Given the description of an element on the screen output the (x, y) to click on. 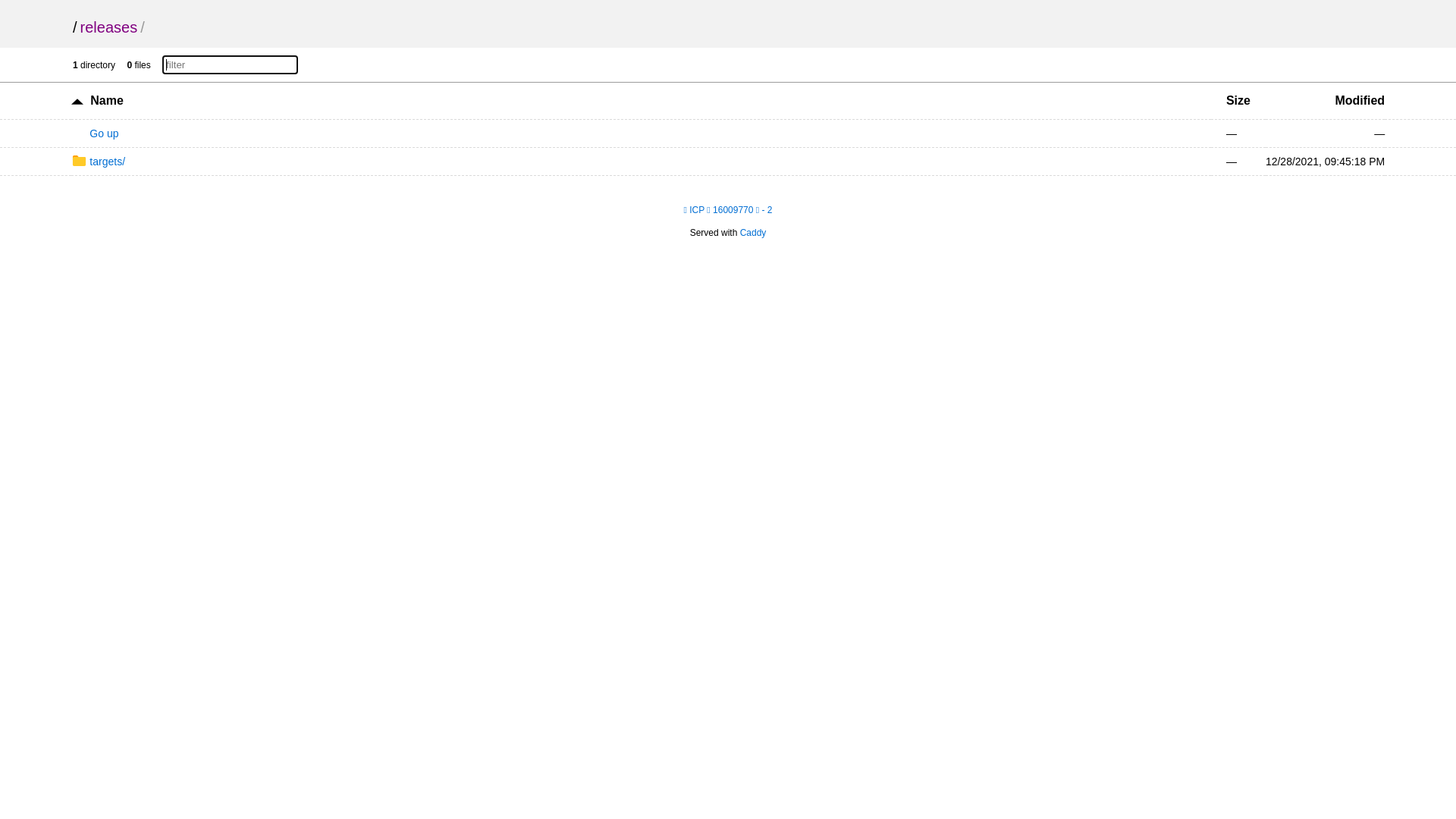
Modified Element type: text (1359, 100)
releases Element type: text (109, 26)
Caddy Element type: text (753, 232)
Name Element type: text (106, 100)
Size Element type: text (1238, 100)
Go up Element type: text (95, 133)
/ Element type: text (74, 26)
targets/ Element type: text (98, 161)
